Given the description of an element on the screen output the (x, y) to click on. 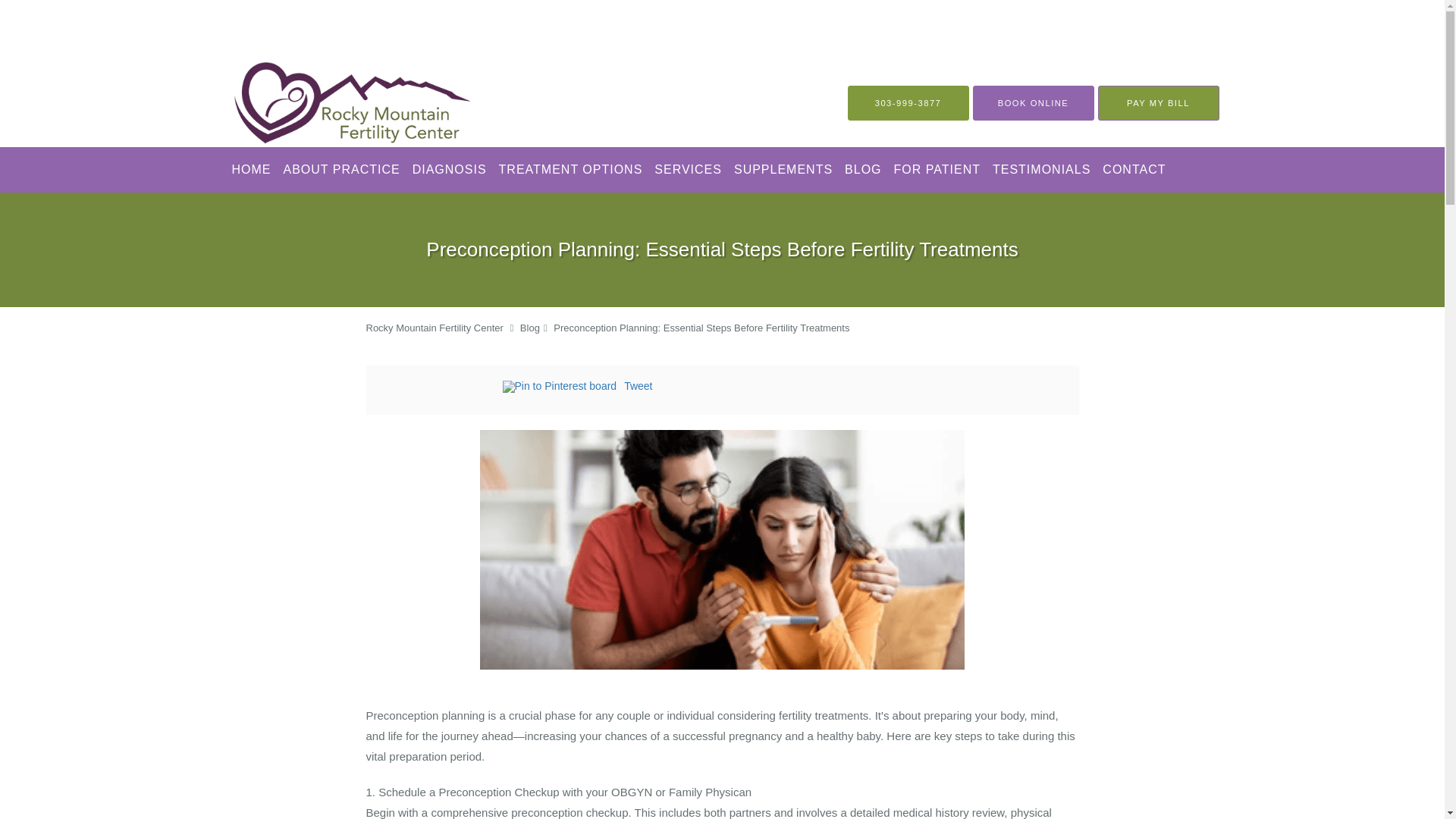
BOOK ONLINE (1032, 102)
HOME (251, 169)
ABOUT PRACTICE (342, 169)
SERVICES (687, 169)
TREATMENT OPTIONS (571, 169)
PAY MY BILL (1158, 102)
Facebook social button (441, 388)
303-999-3877 (908, 102)
DIAGNOSIS (449, 169)
